Given the description of an element on the screen output the (x, y) to click on. 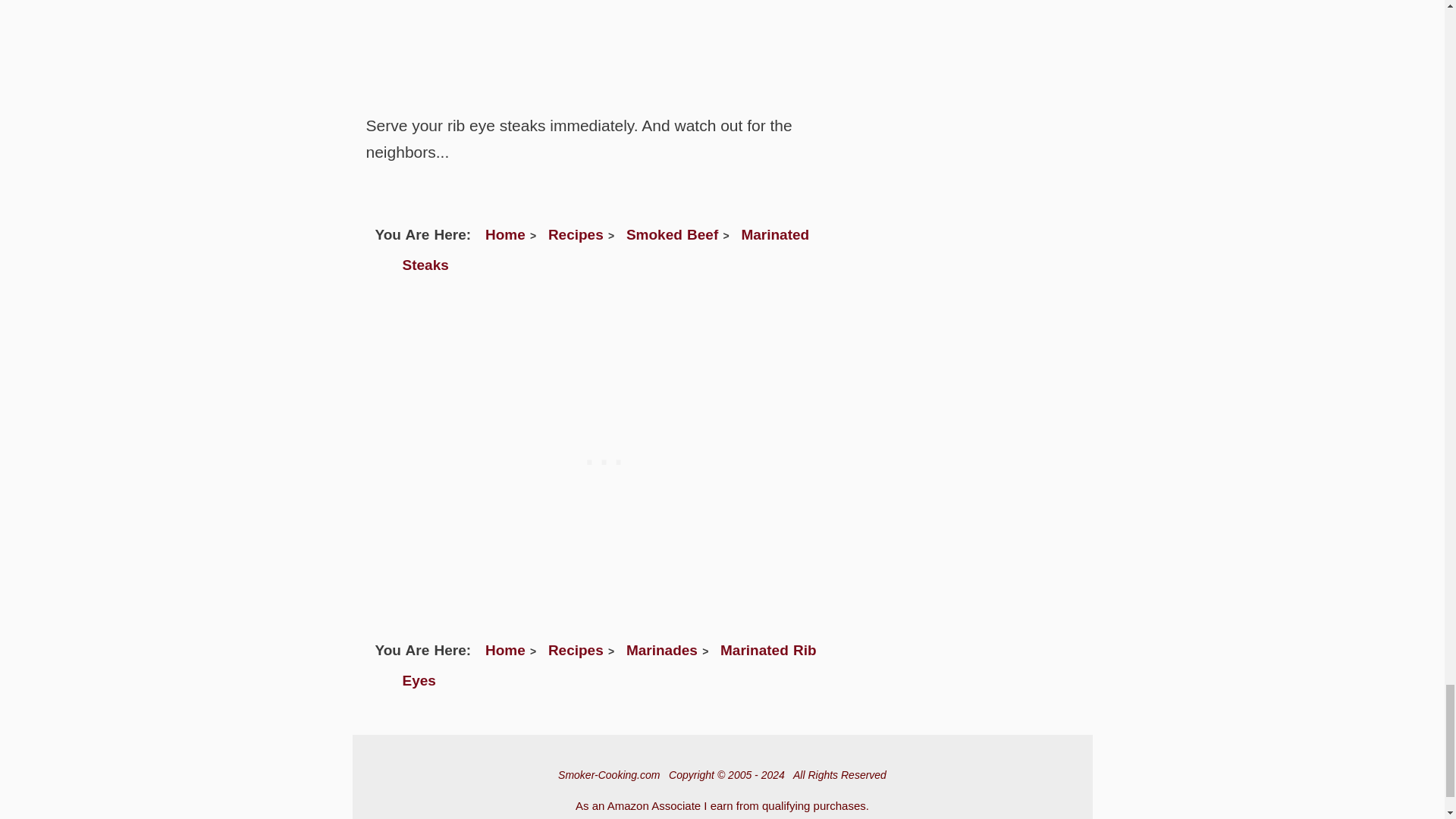
Marinated Steaks (605, 249)
Smoked Beef (671, 234)
Home (504, 650)
Marinades (661, 650)
Marinated Rib Eyes (608, 665)
Recipes (576, 234)
Recipes (576, 650)
Home (504, 234)
